Given the description of an element on the screen output the (x, y) to click on. 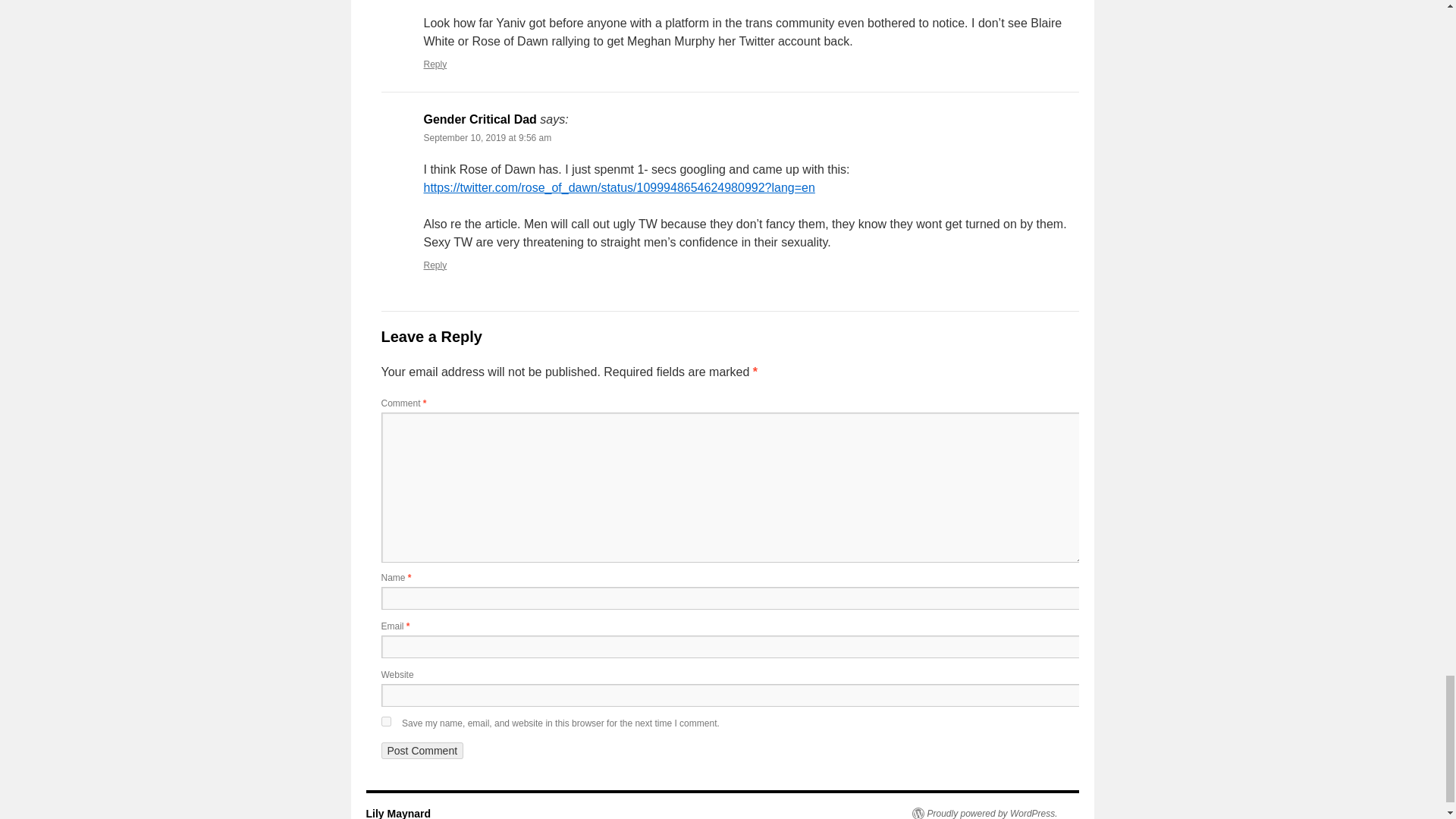
yes (385, 721)
September 10, 2019 at 9:56 am (487, 137)
Post Comment (421, 750)
Reply (434, 265)
Post Comment (421, 750)
Reply (434, 63)
